Given the description of an element on the screen output the (x, y) to click on. 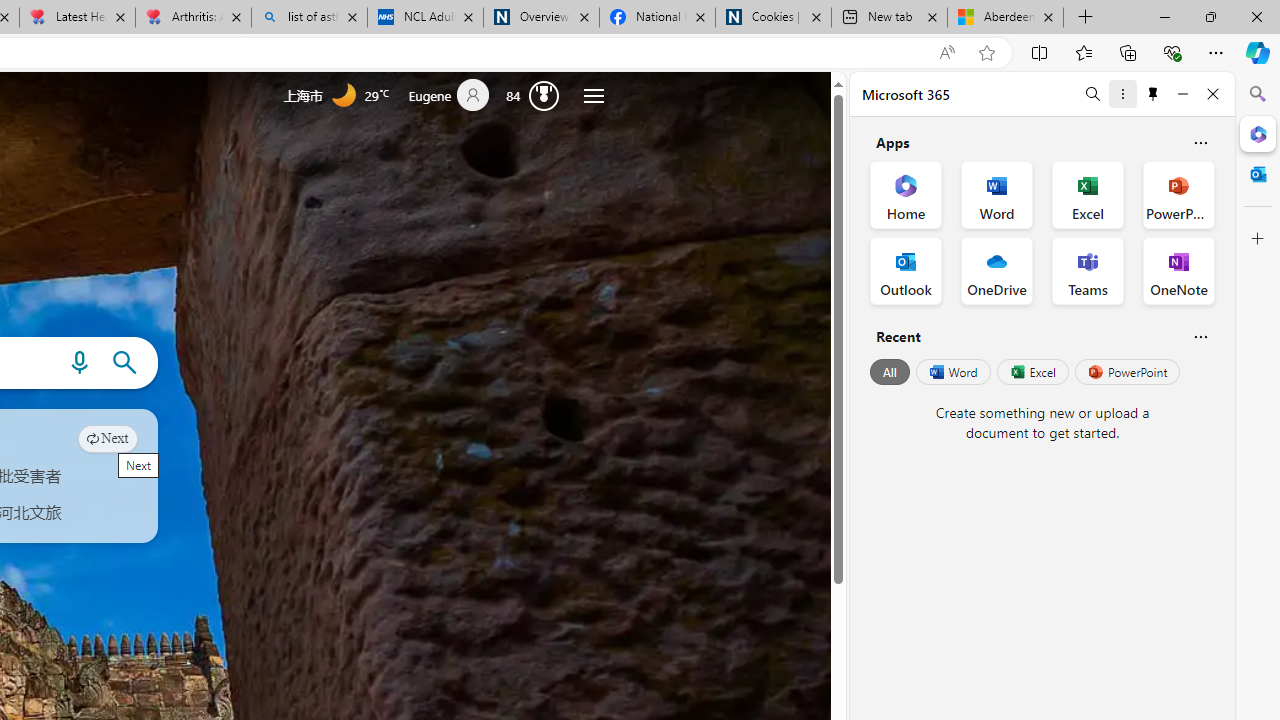
Search using voice (79, 363)
Unpin side pane (1153, 93)
Word (952, 372)
Teams Office App (1087, 270)
OneNote Office App (1178, 270)
Word Office App (996, 194)
Is this helpful? (1200, 336)
Eugene (457, 95)
Settings and quick links (594, 95)
